Given the description of an element on the screen output the (x, y) to click on. 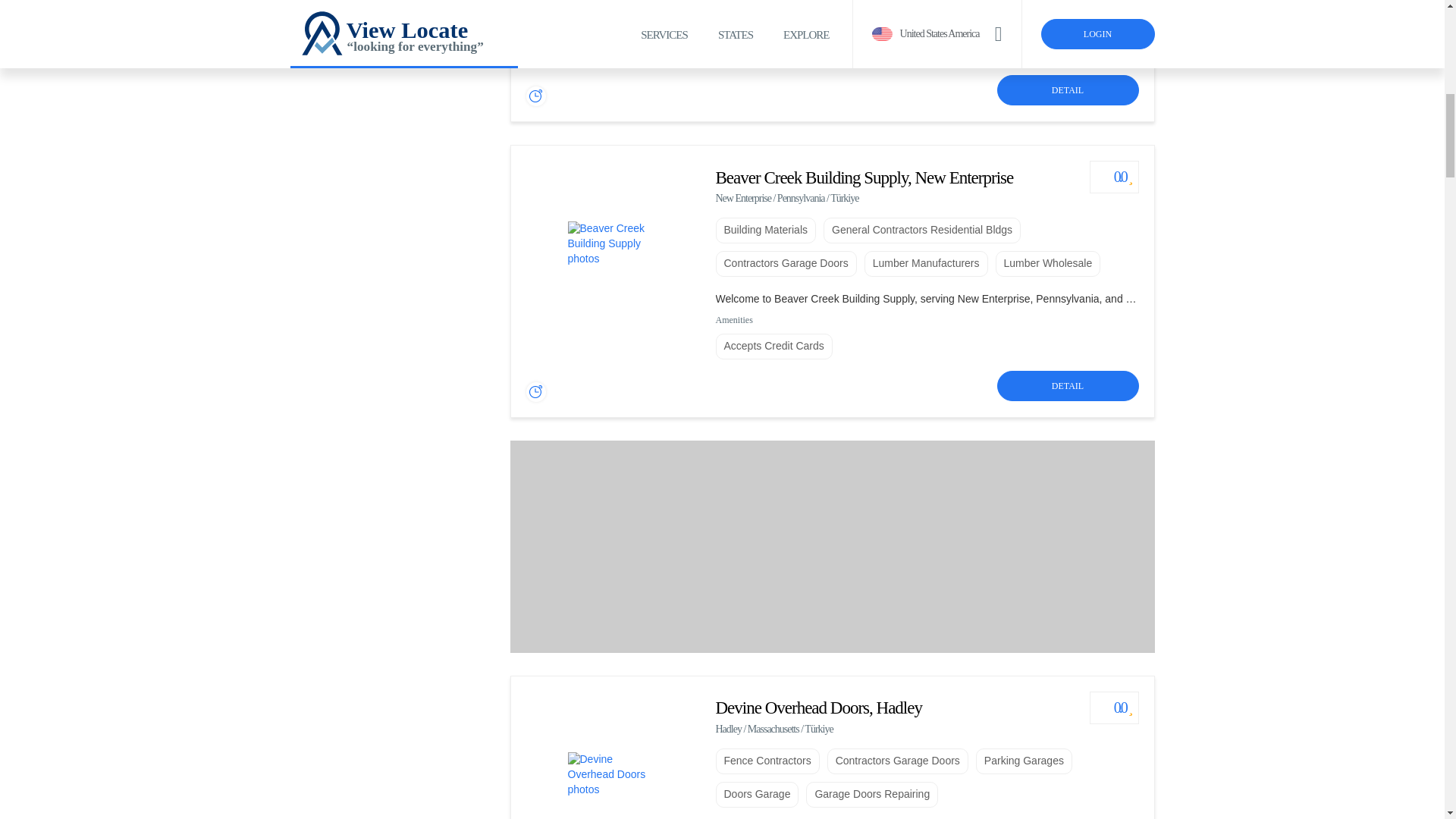
Advertisement (392, 9)
General Contractors Residential Bldgs (922, 230)
Accepts Credit Cards (774, 50)
DETAIL (1066, 90)
Building Materials (766, 230)
Beaver Creek Building Supply, New Enterprise (864, 177)
